Given the description of an element on the screen output the (x, y) to click on. 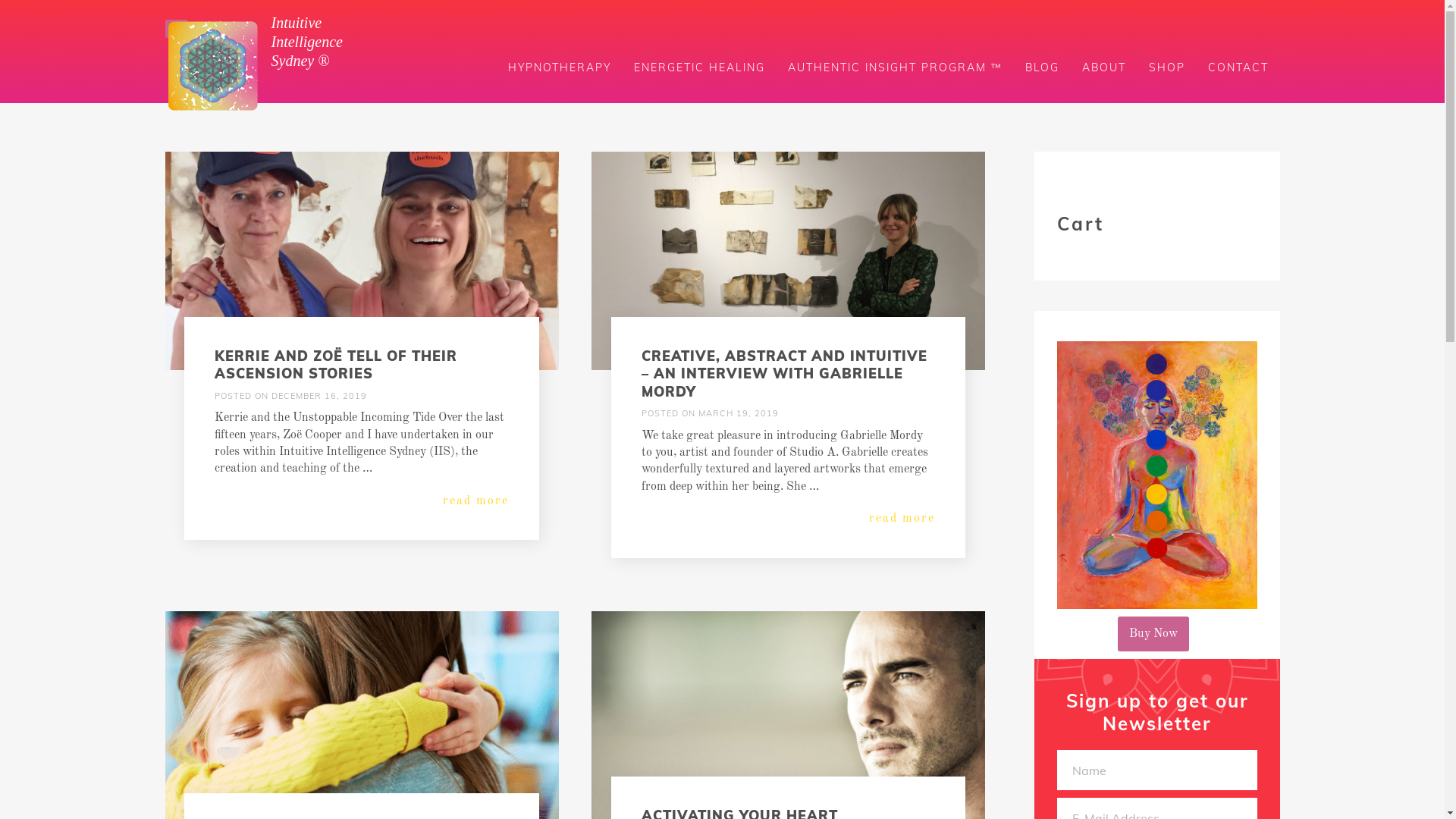
ABOUT Element type: text (1103, 67)
SHOP Element type: text (1166, 67)
read more Element type: text (361, 500)
BLOG Element type: text (1041, 67)
CONTACT Element type: text (1238, 67)
ENERGETIC HEALING Element type: text (698, 67)
HYPNOTHERAPY Element type: text (558, 67)
read more Element type: text (788, 518)
Buy Now Element type: text (1153, 633)
